Given the description of an element on the screen output the (x, y) to click on. 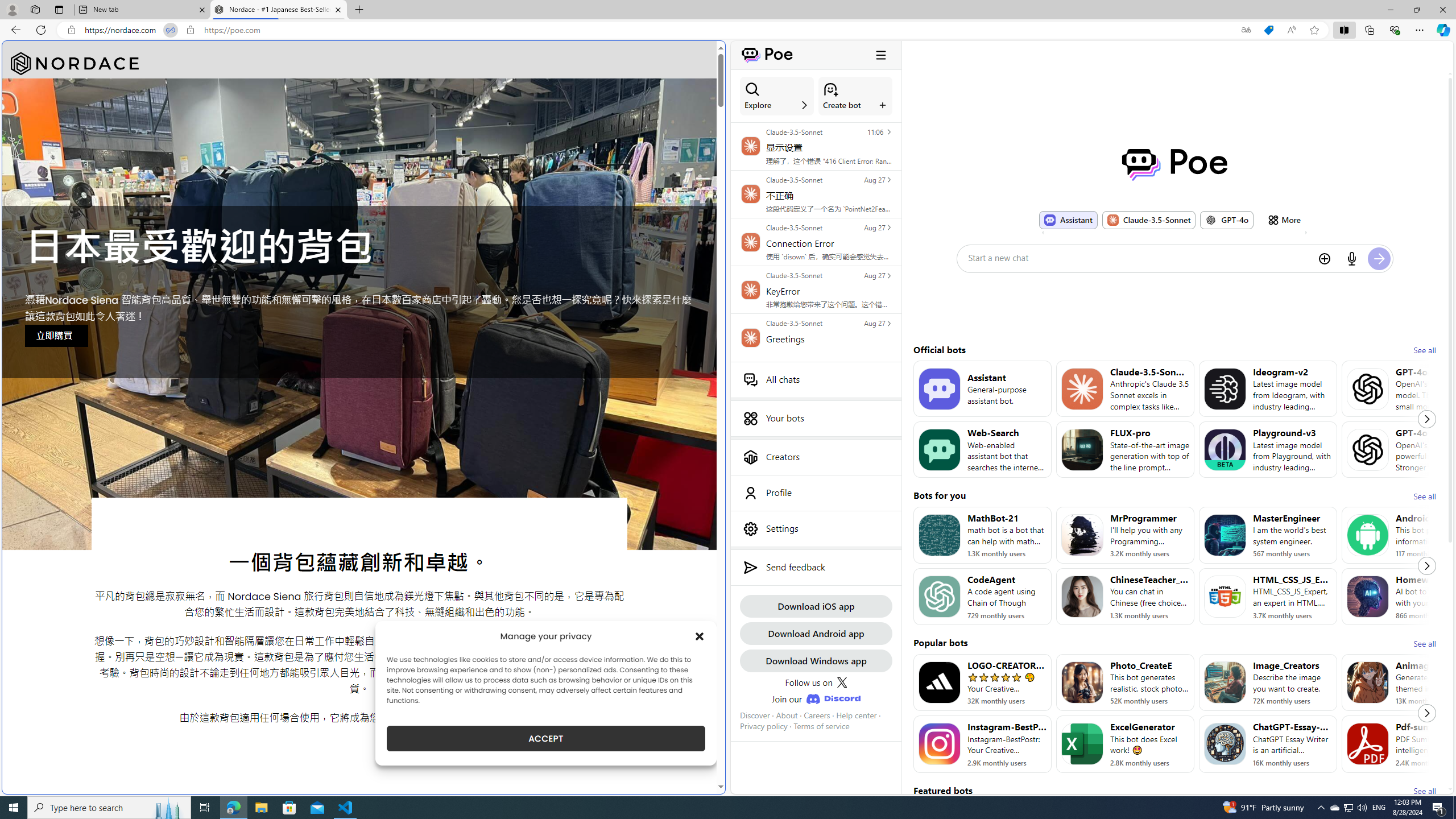
Bot image for GPT-4o-Mini (1367, 388)
Download iOS app (815, 605)
Bot image for Claude-3.5-Sonnet (1081, 388)
Bot image for GPT-4o (1367, 449)
Class: ManageBotsCardSection_searchIcon__laGLi (752, 89)
Help center (855, 714)
Download Android app (815, 633)
Class: ManageBotsCardSection_createBotIcon__9JUYg (830, 89)
